Given the description of an element on the screen output the (x, y) to click on. 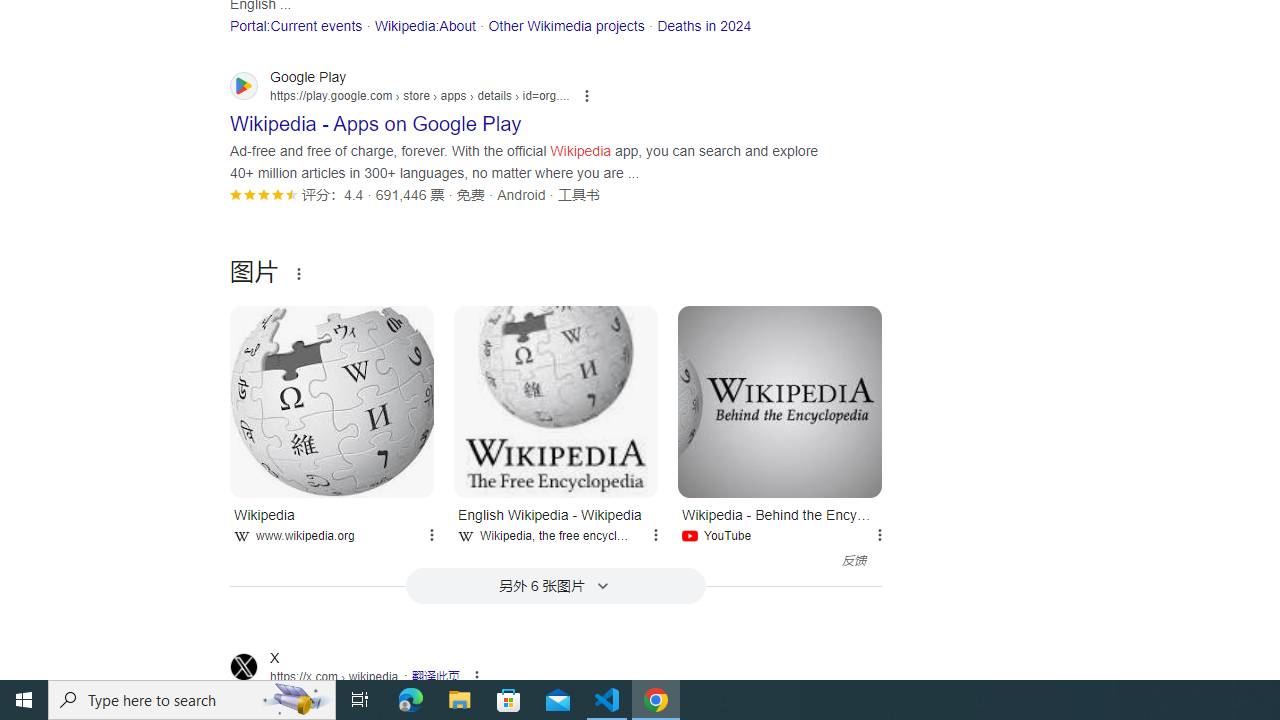
Wikipedia (331, 401)
Wikipedia - Behind the Encyclopedia (779, 401)
Wikipedia (331, 401)
